Given the description of an element on the screen output the (x, y) to click on. 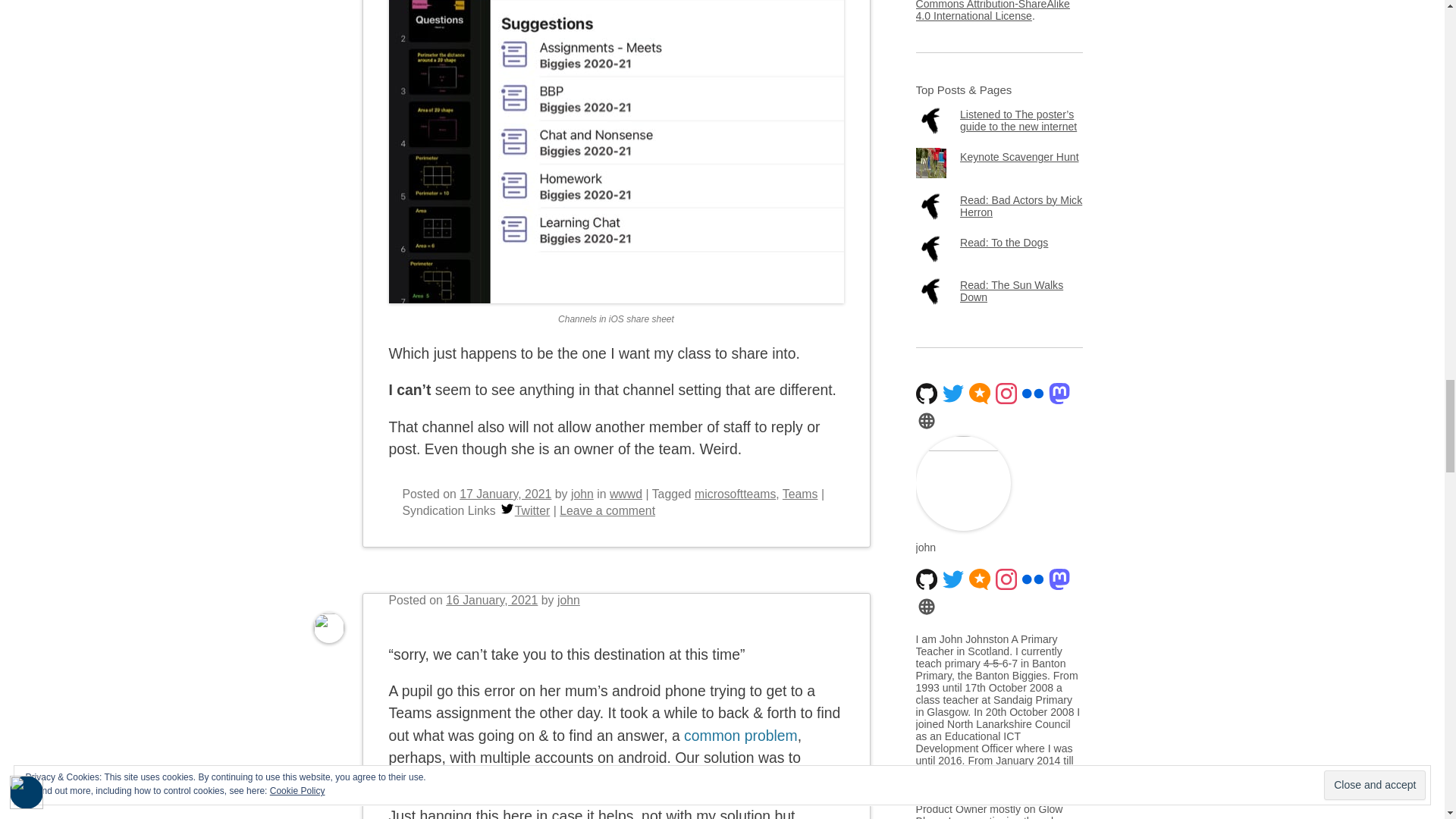
Twitter (506, 508)
